Given the description of an element on the screen output the (x, y) to click on. 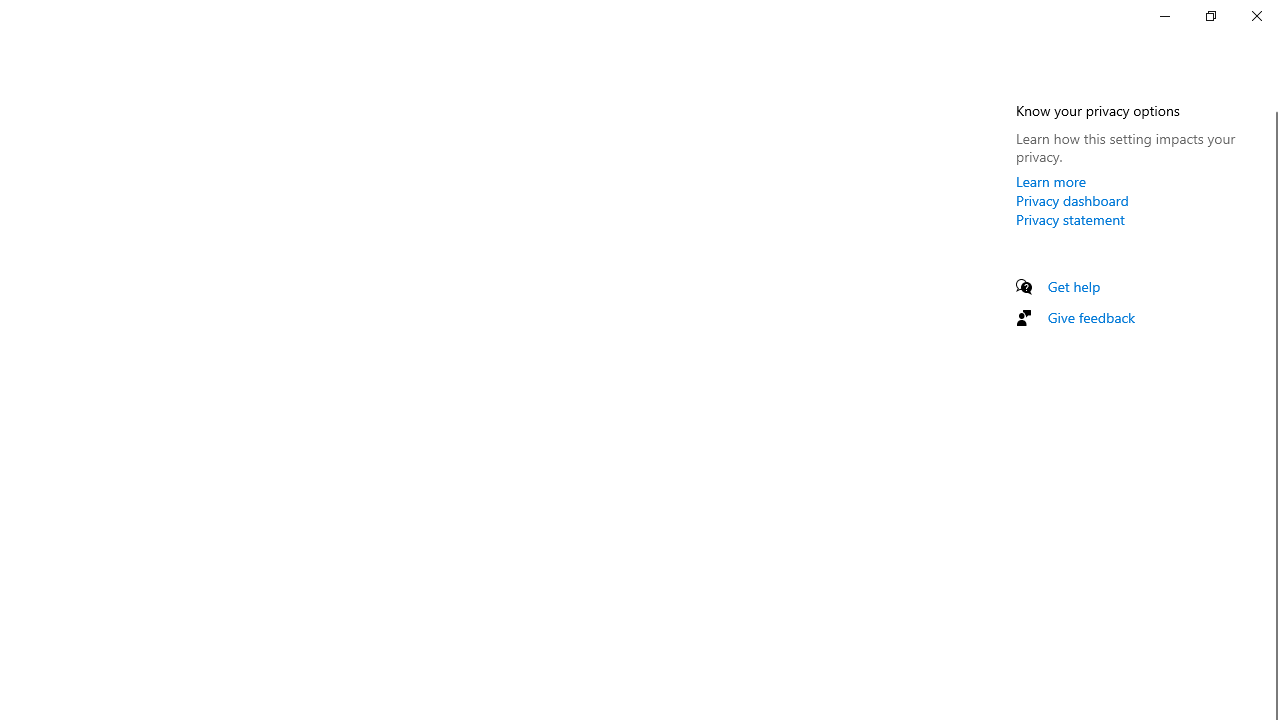
Privacy statement (1070, 219)
Privacy dashboard (1072, 200)
Learn more (1051, 181)
Give feedback (1091, 317)
Vertical Small Decrease (1272, 103)
Get help (1074, 286)
